Given the description of an element on the screen output the (x, y) to click on. 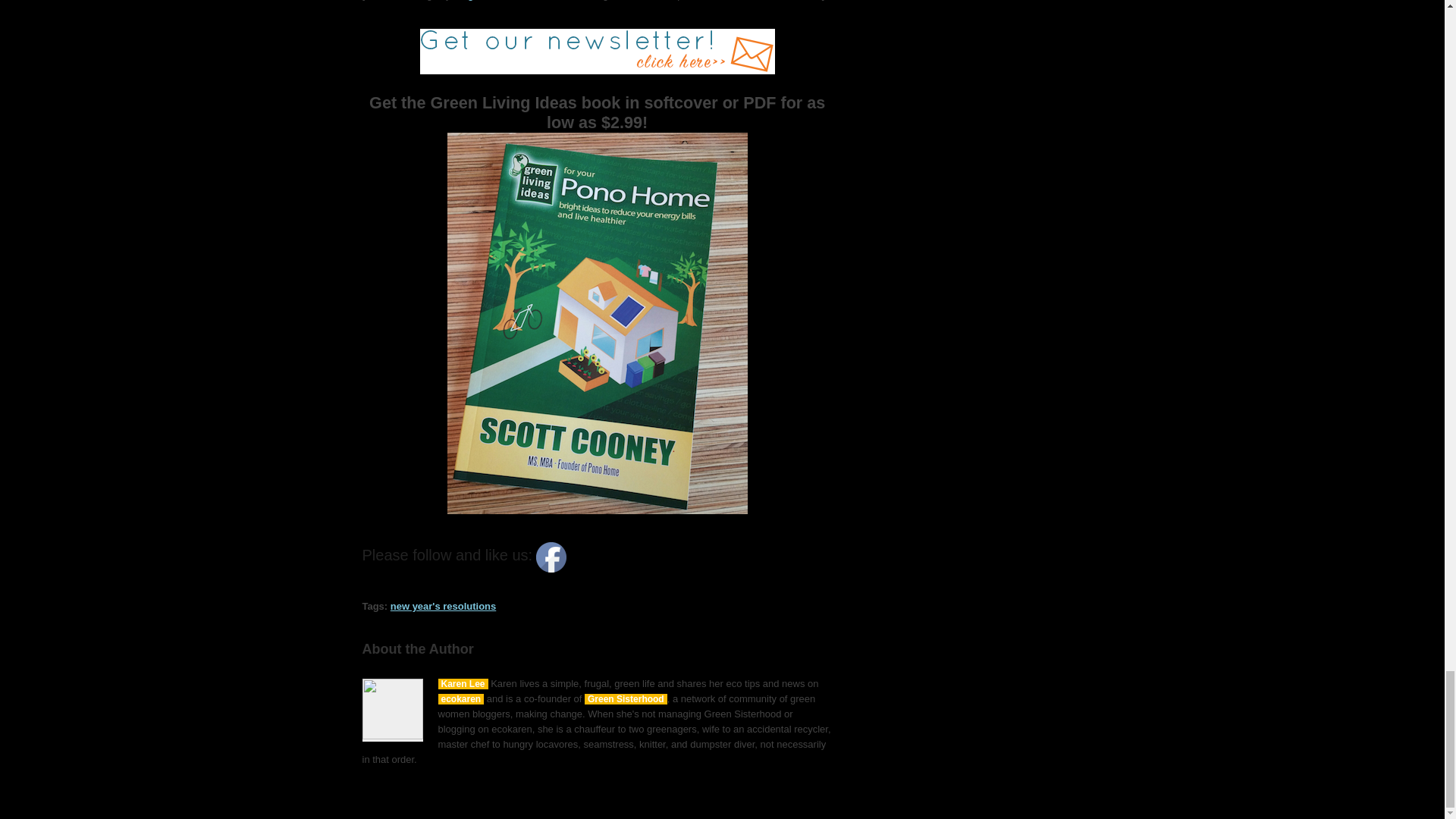
Posts by Karen Lee (462, 683)
Facebook (550, 557)
